Given the description of an element on the screen output the (x, y) to click on. 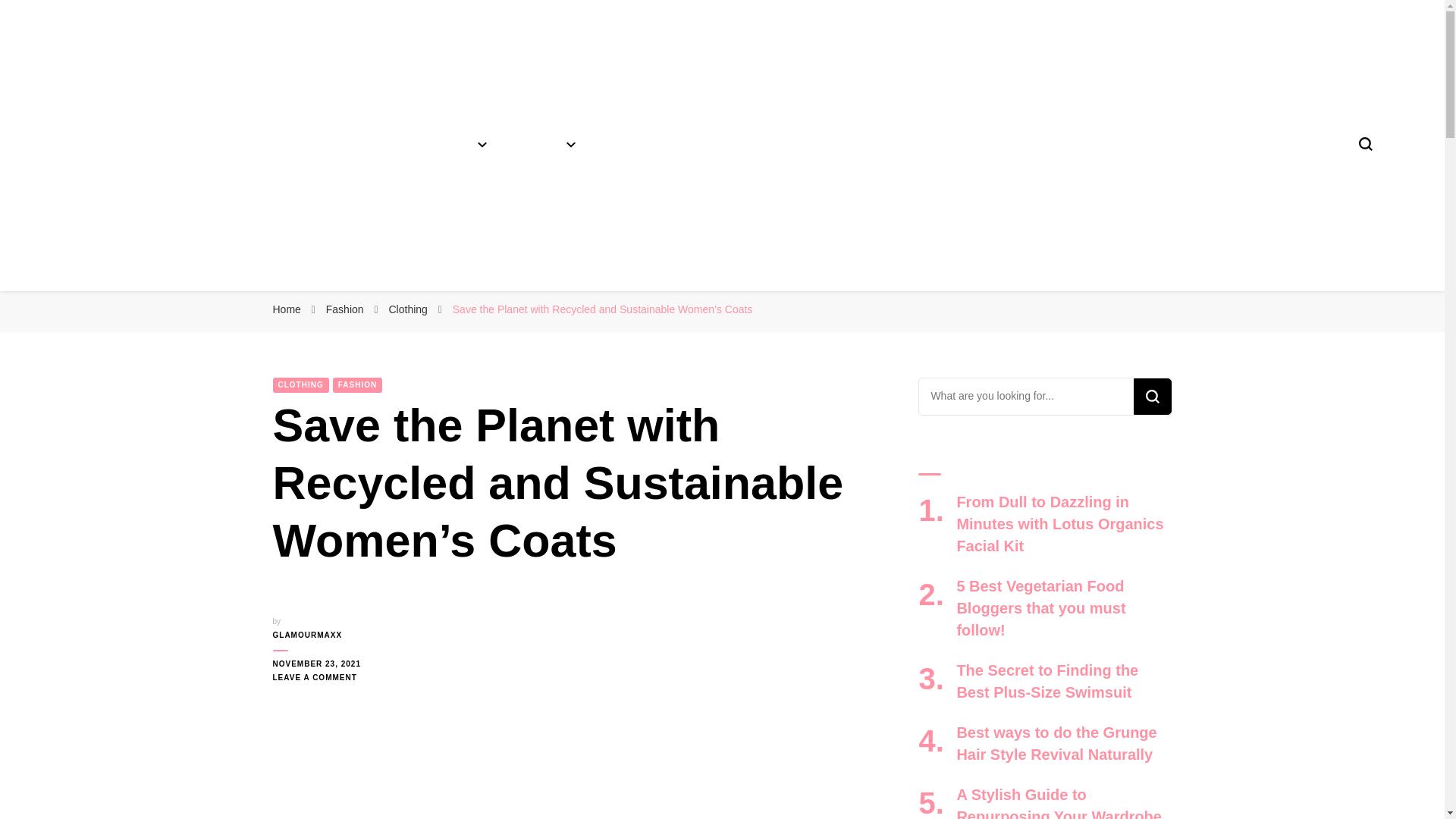
BEAUTY (546, 144)
CONTACT US (986, 144)
CELEBRITY LIFESTYLE (753, 144)
WRITE FOR US (882, 144)
GlamourMAXX (167, 295)
LIFESTYLE (633, 144)
Search (1151, 396)
Search (1151, 396)
FASHION (454, 144)
